Given the description of an element on the screen output the (x, y) to click on. 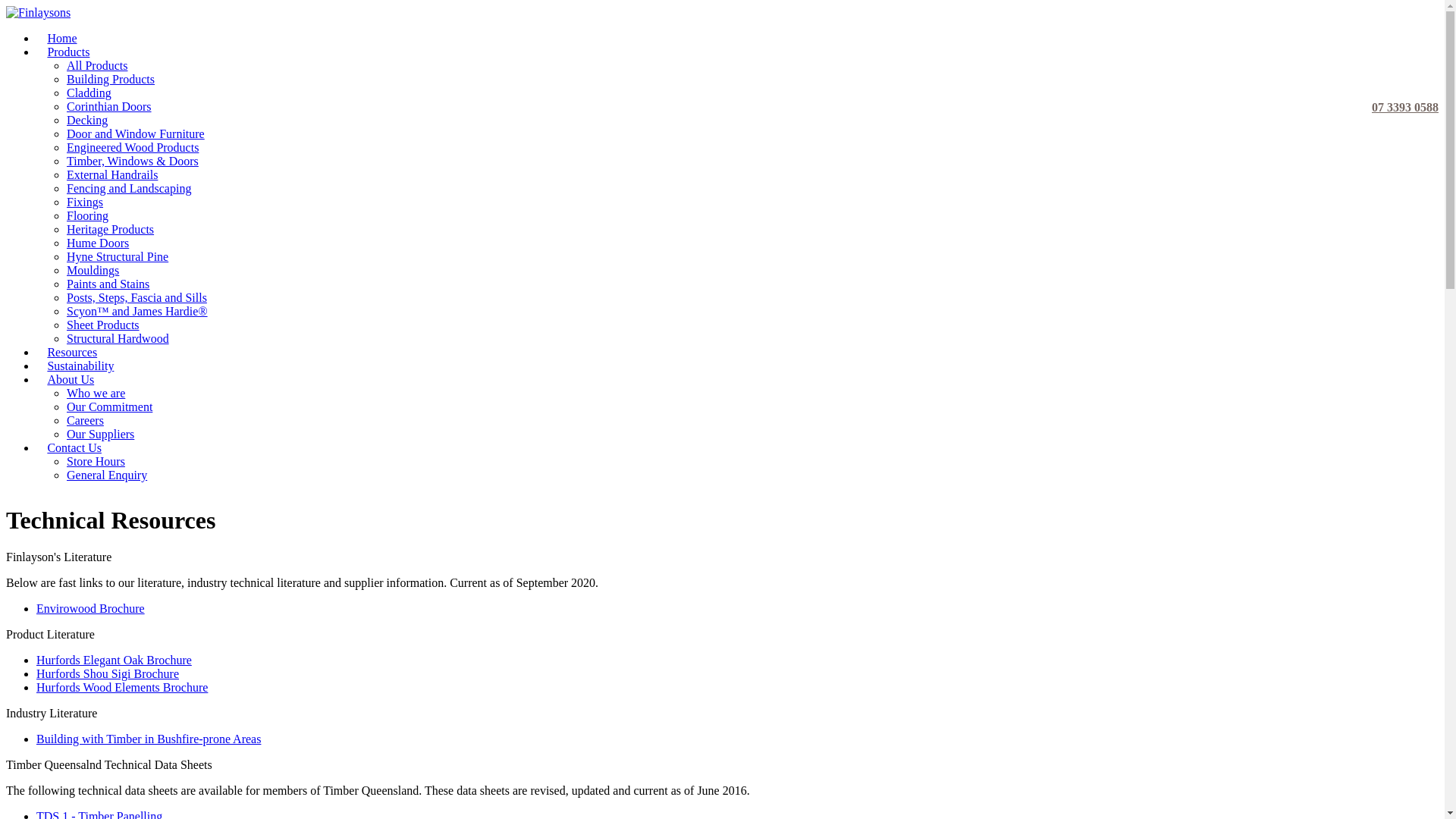
Hurfords Shou Sigi Brochure Element type: text (107, 673)
Flooring Element type: text (87, 215)
Home Element type: text (61, 38)
Who we are Element type: text (95, 392)
About Us Element type: text (70, 379)
Envirowood Brochure Element type: text (90, 608)
Products Element type: text (68, 51)
Engineered Wood Products Element type: text (132, 147)
Contact Us Element type: text (74, 447)
Hume Doors Element type: text (97, 242)
Paints and Stains Element type: text (107, 283)
Hurfords Elegant Oak Brochure Element type: text (113, 659)
Building Products Element type: text (110, 78)
General Enquiry Element type: text (106, 474)
Sustainability Element type: text (80, 365)
Fencing and Landscaping Element type: text (128, 188)
Resources Element type: text (72, 352)
Corinthian Doors Element type: text (108, 106)
Mouldings Element type: text (92, 269)
07 3393 0588 Element type: text (1401, 76)
Careers Element type: text (84, 420)
Decking Element type: text (86, 119)
Our Commitment Element type: text (109, 406)
All Products Element type: text (96, 65)
Structural Hardwood Element type: text (117, 338)
Heritage Products Element type: text (109, 228)
Hyne Structural Pine Element type: text (117, 256)
Posts, Steps, Fascia and Sills Element type: text (136, 297)
Cladding Element type: text (88, 92)
Fixings Element type: text (84, 201)
Store Hours Element type: text (95, 461)
Door and Window Furniture Element type: text (135, 133)
Our Suppliers Element type: text (100, 433)
Hurfords Wood Elements Brochure Element type: text (121, 686)
Timber, Windows & Doors Element type: text (132, 160)
External Handrails Element type: text (111, 174)
Sheet Products Element type: text (102, 324)
Building with Timber in Bushfire-prone Areas Element type: text (148, 738)
